Given the description of an element on the screen output the (x, y) to click on. 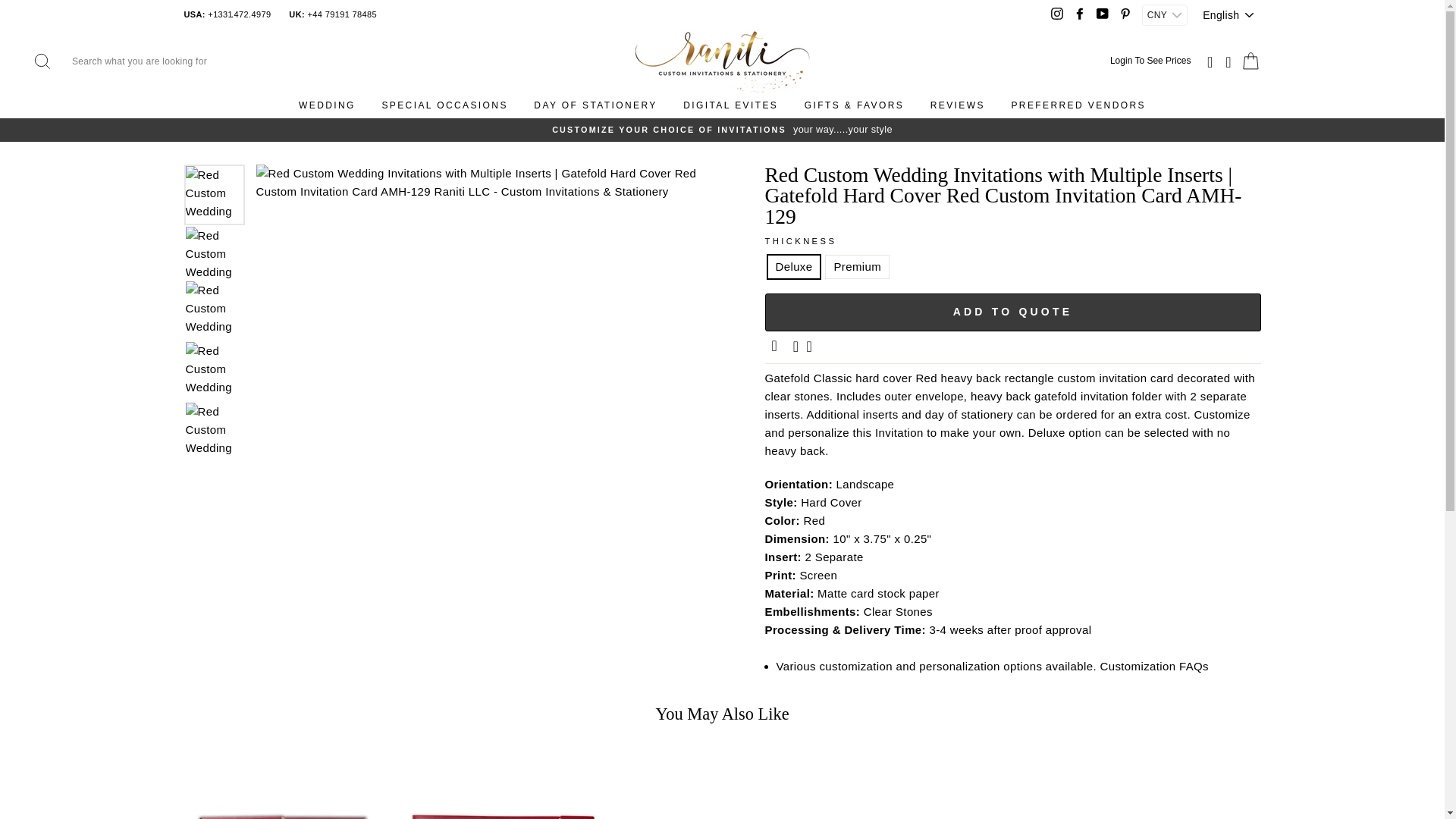
Share by Email (775, 346)
